Given the description of an element on the screen output the (x, y) to click on. 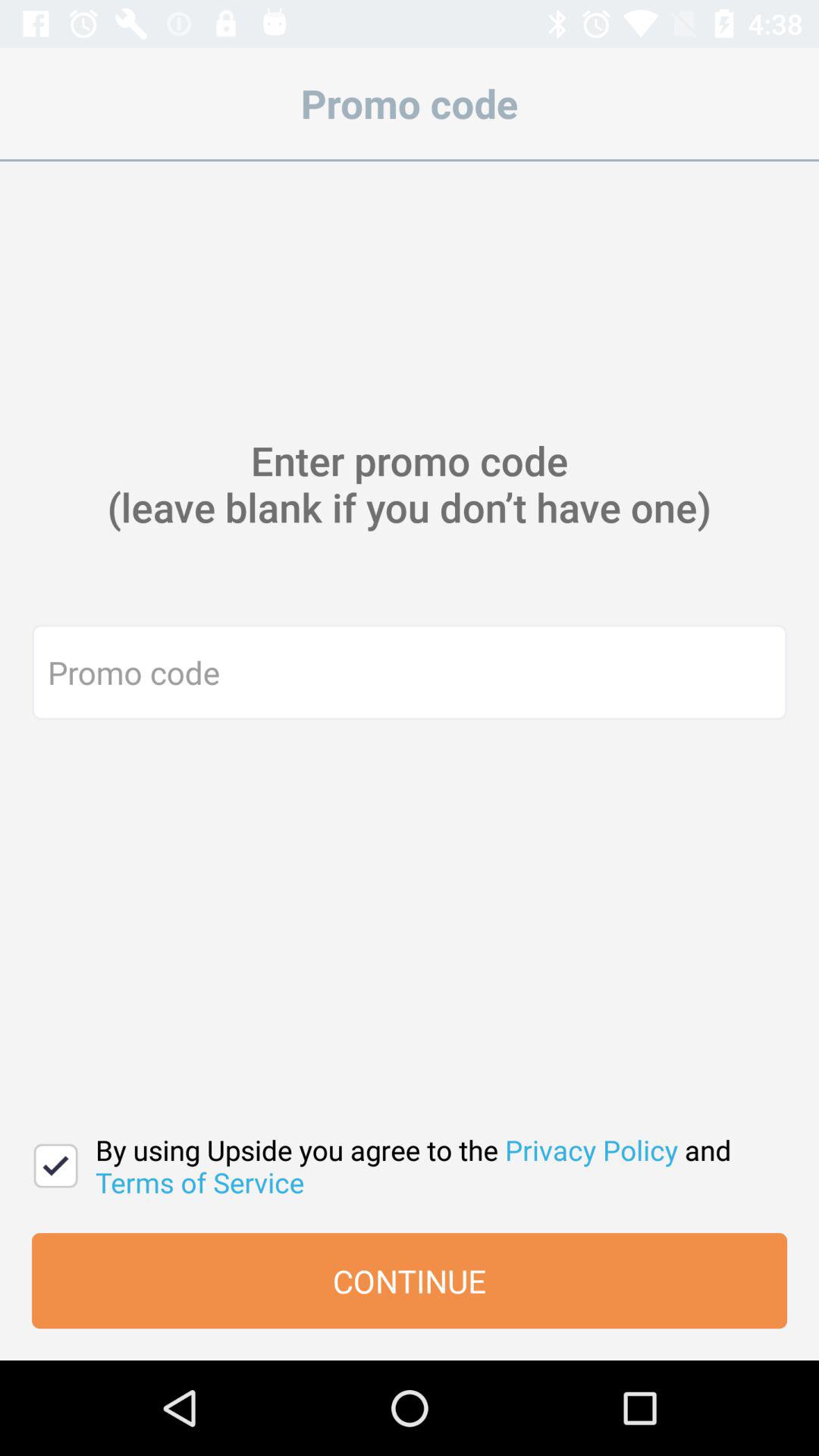
press the item at the bottom left corner (55, 1165)
